Given the description of an element on the screen output the (x, y) to click on. 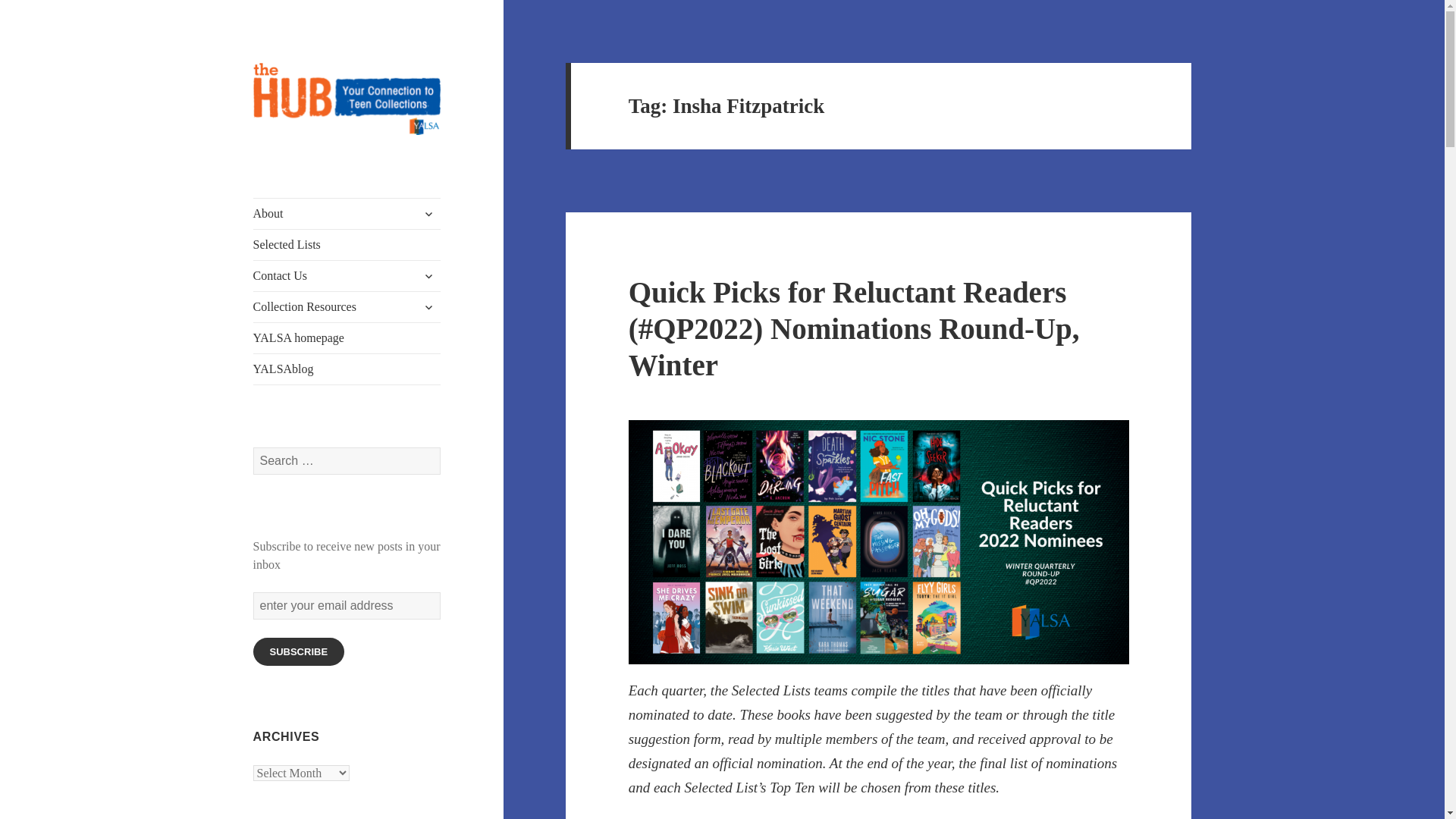
YALSA homepage (347, 337)
SUBSCRIBE (299, 651)
About (347, 214)
expand child menu (428, 213)
expand child menu (428, 306)
expand child menu (428, 275)
Contact Us (347, 276)
Collection Resources (347, 306)
The Hub (293, 159)
YALSAblog (347, 368)
Selected Lists (347, 245)
